Given the description of an element on the screen output the (x, y) to click on. 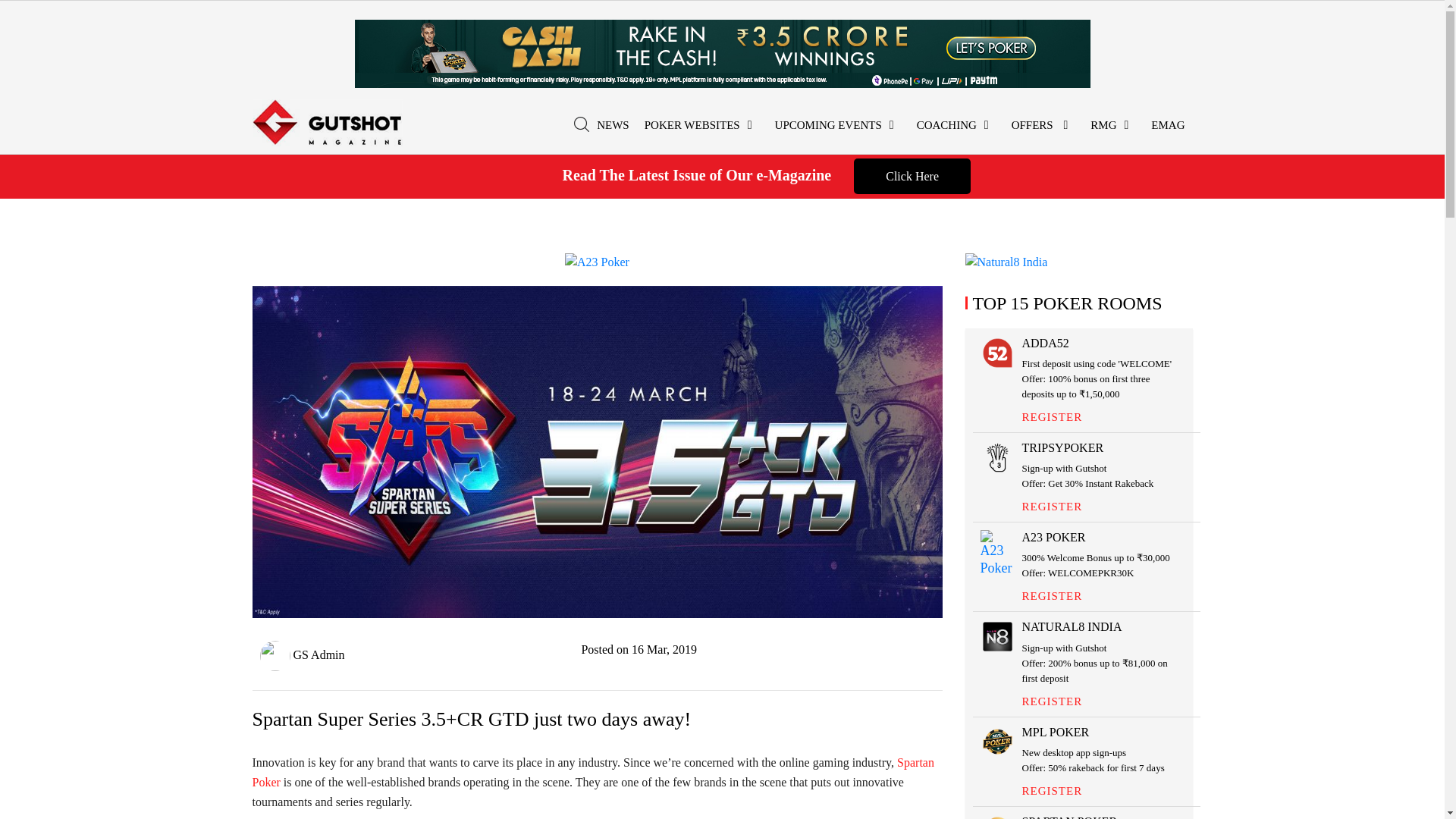
POKER WEBSITES (702, 125)
Spartan Poker (592, 771)
COACHING (956, 125)
Natural8 India (1004, 259)
MPL Poker  (722, 51)
UPCOMING EVENTS (837, 125)
Click Here (912, 176)
NEWS (612, 125)
OFFERS (1043, 125)
Click Here (912, 175)
